Given the description of an element on the screen output the (x, y) to click on. 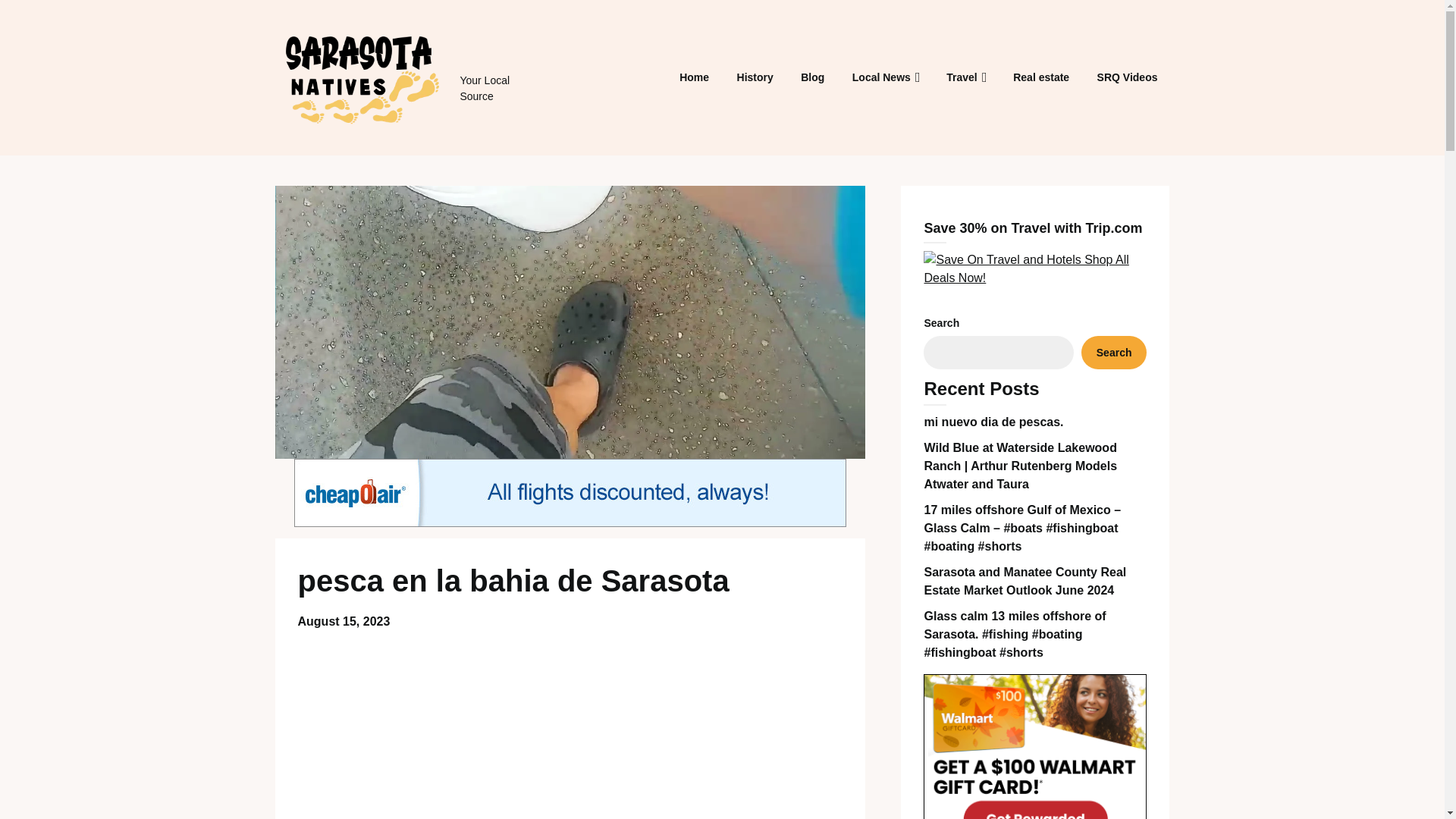
Home (693, 77)
History (755, 77)
YouTube video player (570, 728)
Blog (812, 77)
SRQ Videos (1127, 77)
Travel (961, 77)
Real estate (1041, 77)
Local News (881, 77)
August 15, 2023 (343, 621)
